Given the description of an element on the screen output the (x, y) to click on. 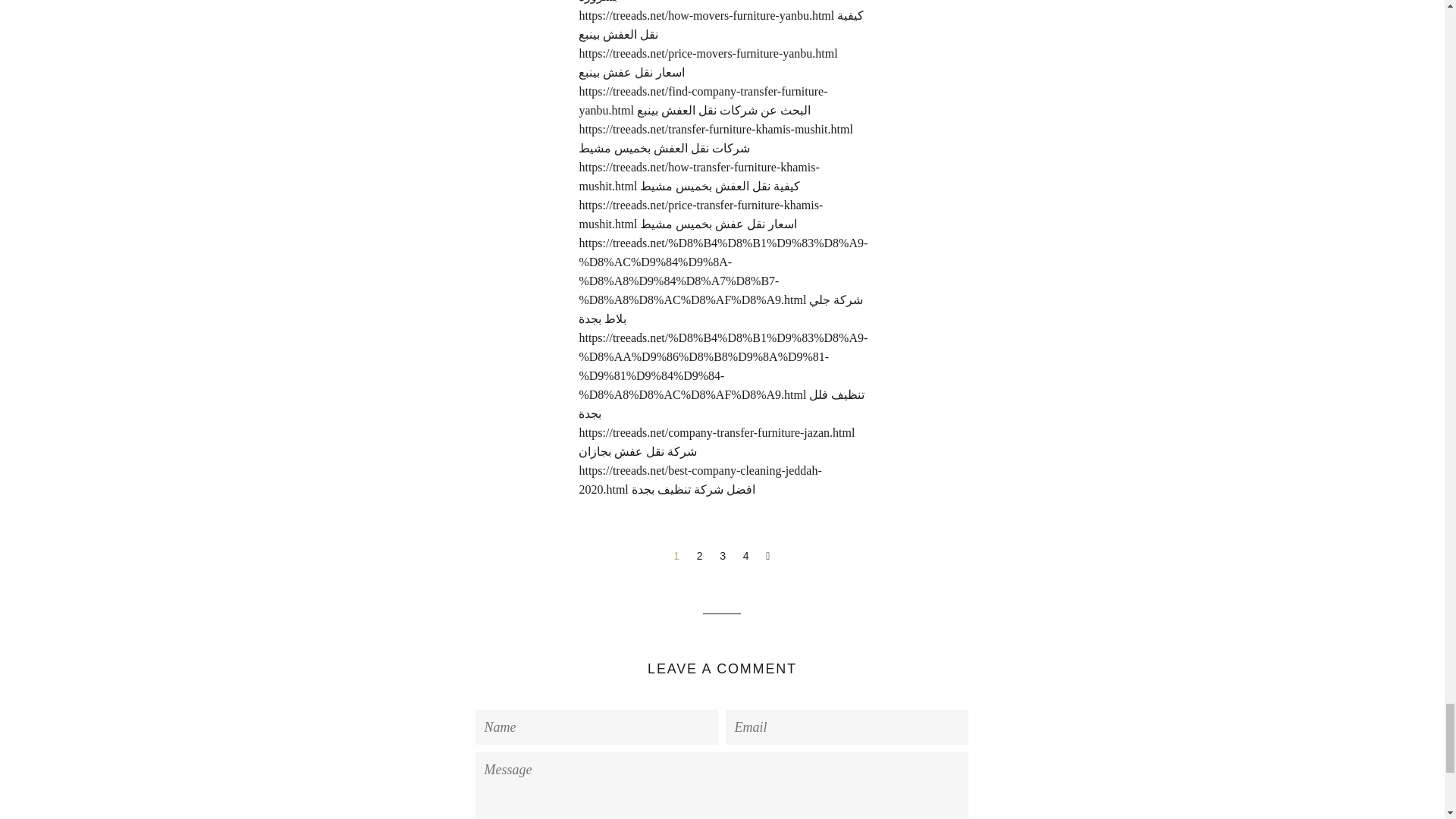
2 (700, 555)
3 (722, 555)
4 (745, 555)
